Given the description of an element on the screen output the (x, y) to click on. 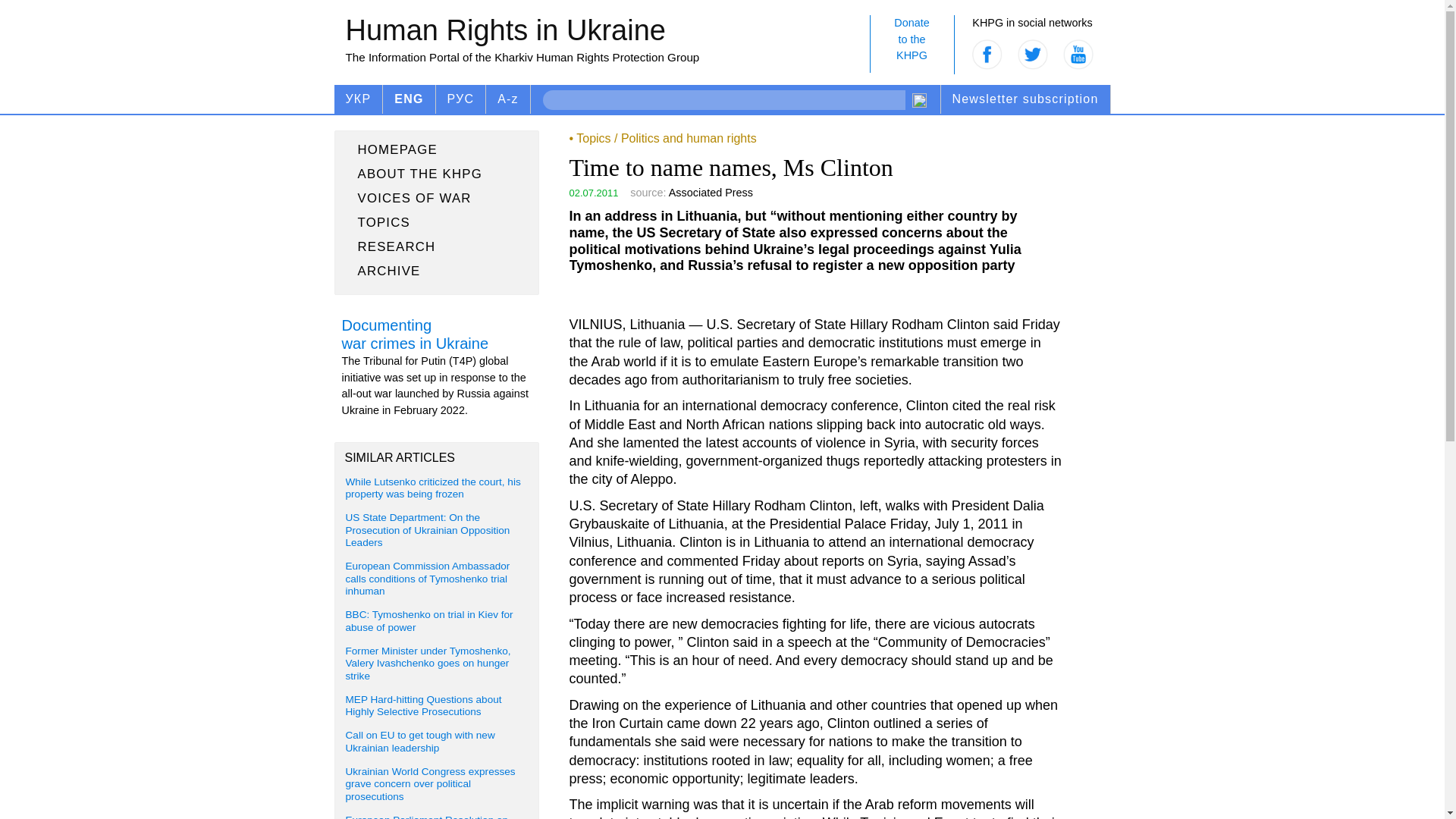
Newsletter subscription (911, 43)
TOPICS (1024, 99)
HOMEPAGE (437, 222)
ABOUT THE KHPG (437, 149)
VOICES OF WAR (437, 174)
A-z (437, 198)
